Given the description of an element on the screen output the (x, y) to click on. 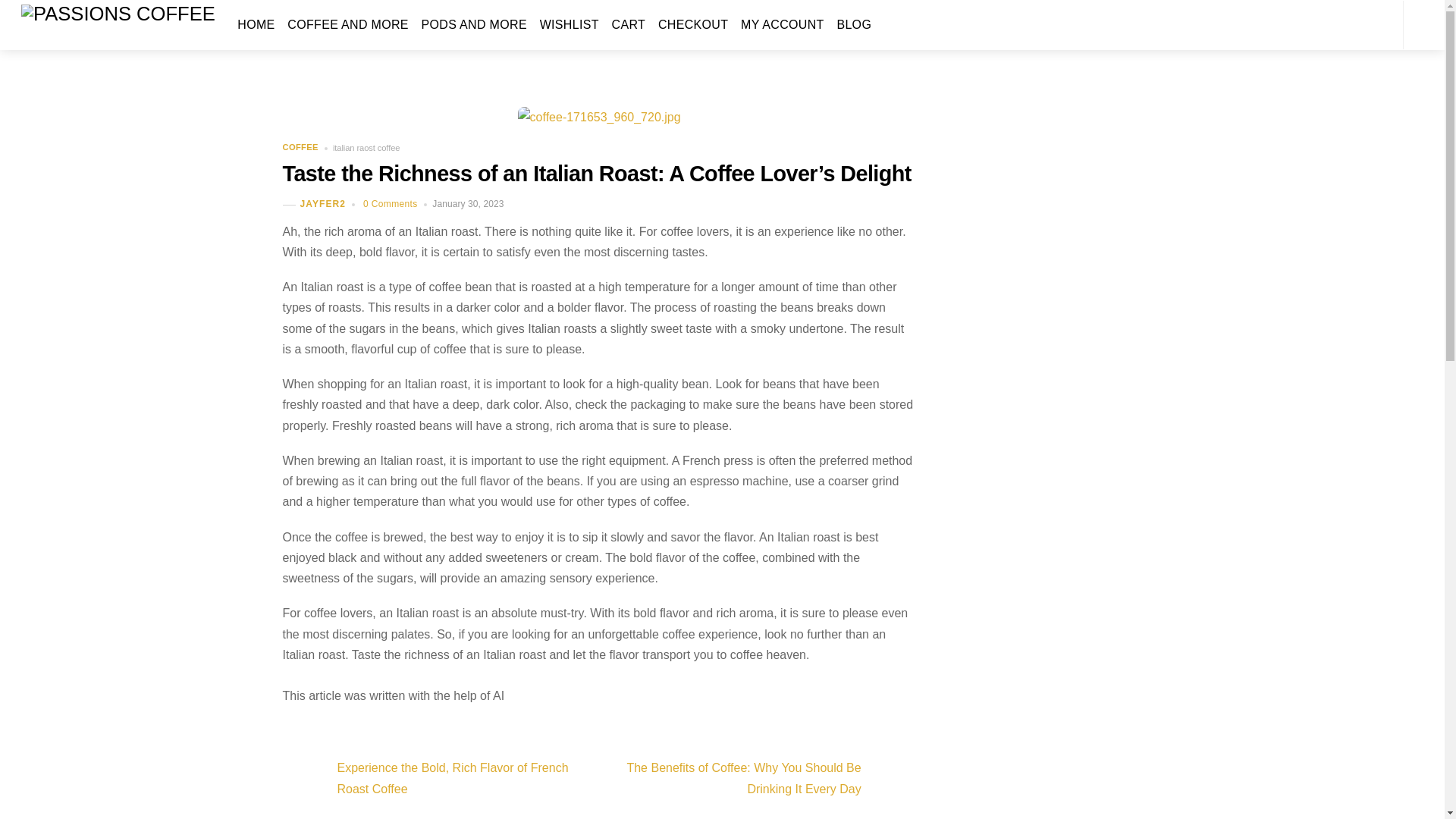
COFFEE AND MORE (347, 24)
PODS AND MORE (473, 24)
MY ACCOUNT (782, 24)
BLOG (853, 24)
WISHLIST (569, 24)
JAYFER2 (322, 204)
cropped-Artboard-1-Png-no-background800-min-1-1.png (118, 14)
CHECKOUT (693, 24)
Experience the Bold, Rich Flavor of French Roast Coffee (430, 778)
Passions Coffee (118, 12)
